Given the description of an element on the screen output the (x, y) to click on. 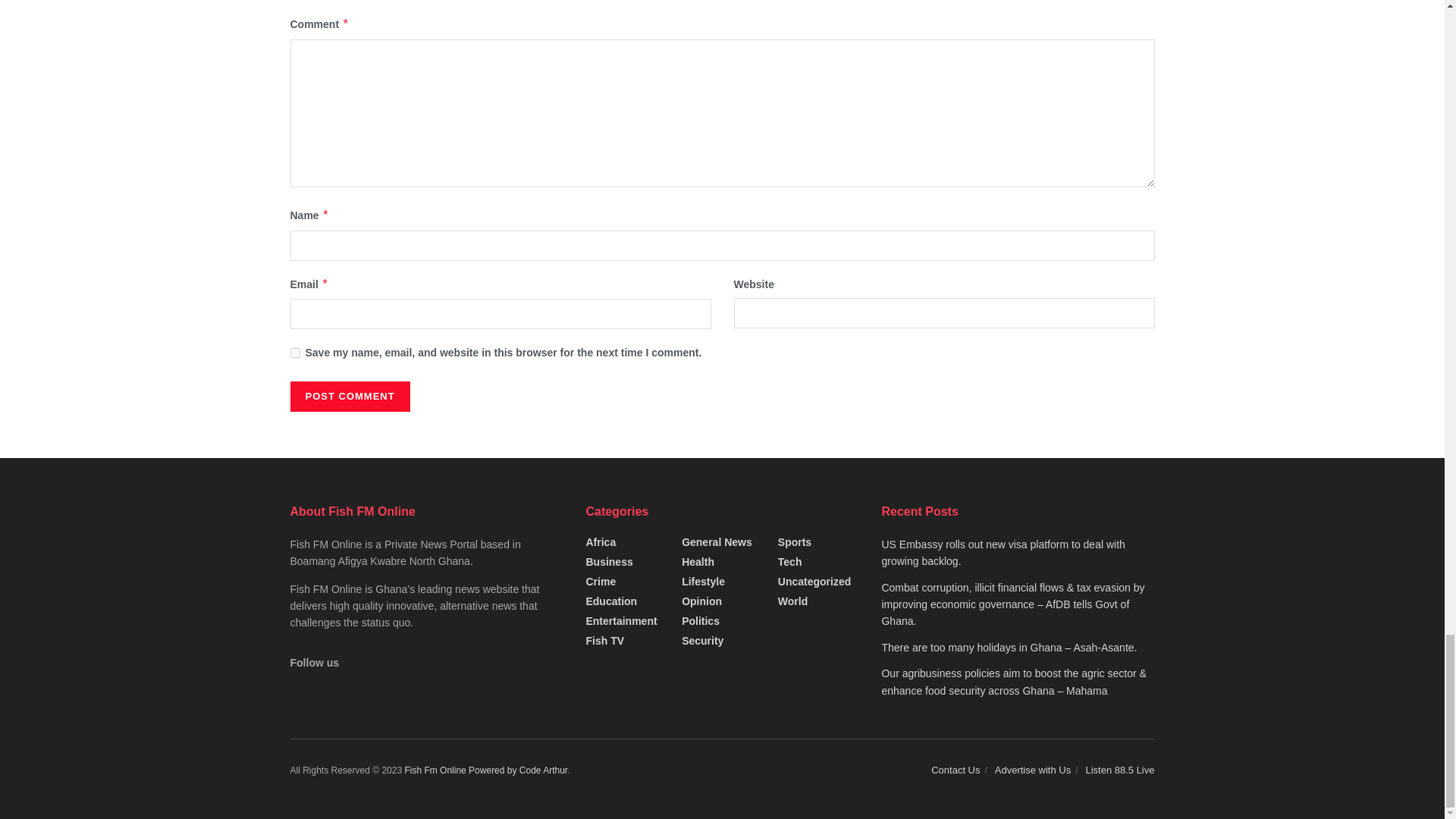
Post Comment (349, 396)
yes (294, 352)
Fish Fm Online (436, 769)
